Given the description of an element on the screen output the (x, y) to click on. 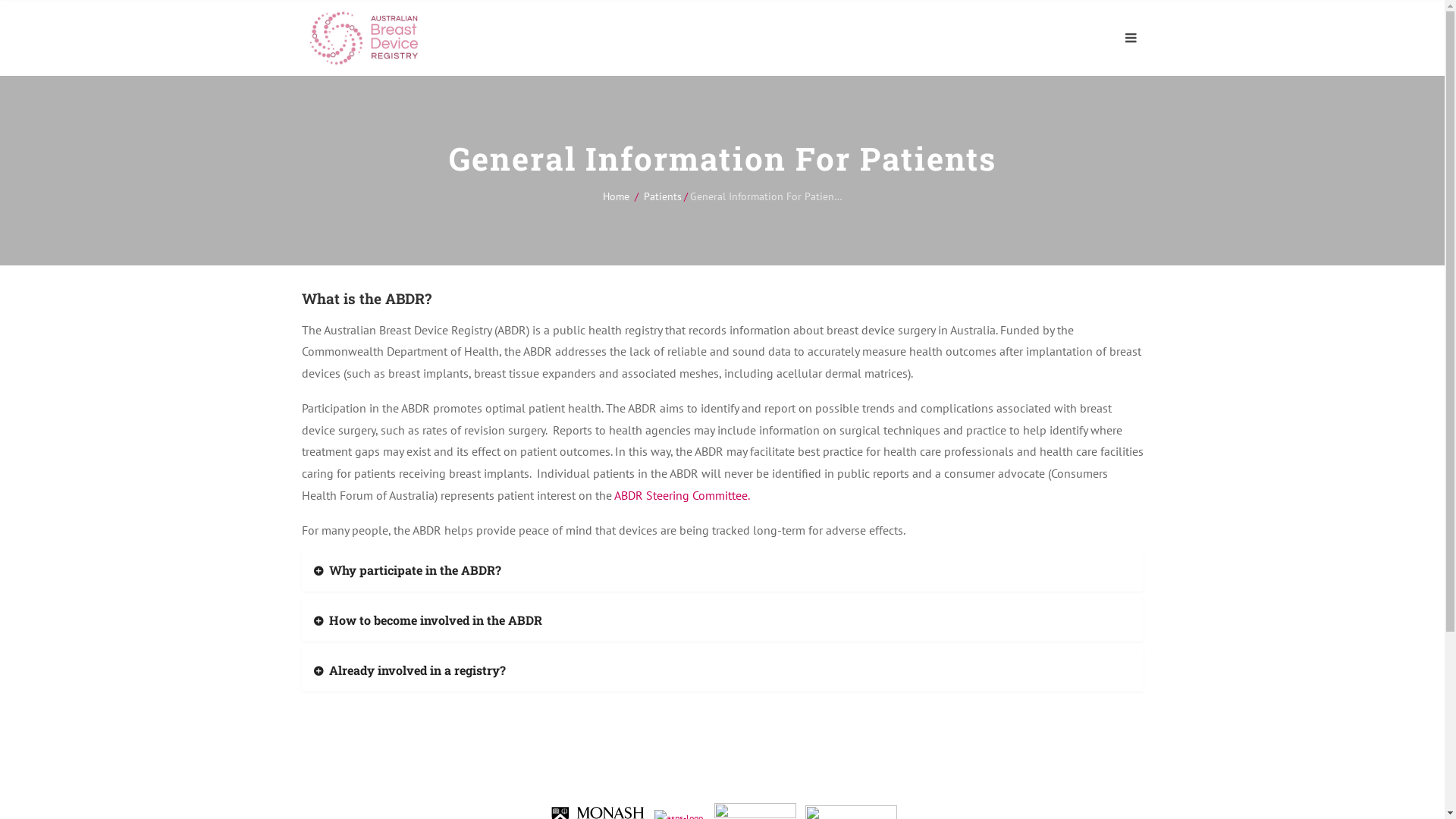
Patients Element type: text (661, 196)
ABDR Steering Committee. Element type: text (680, 494)
Home Element type: text (615, 196)
Australian Breast Device Registry Element type: hover (363, 37)
